Given the description of an element on the screen output the (x, y) to click on. 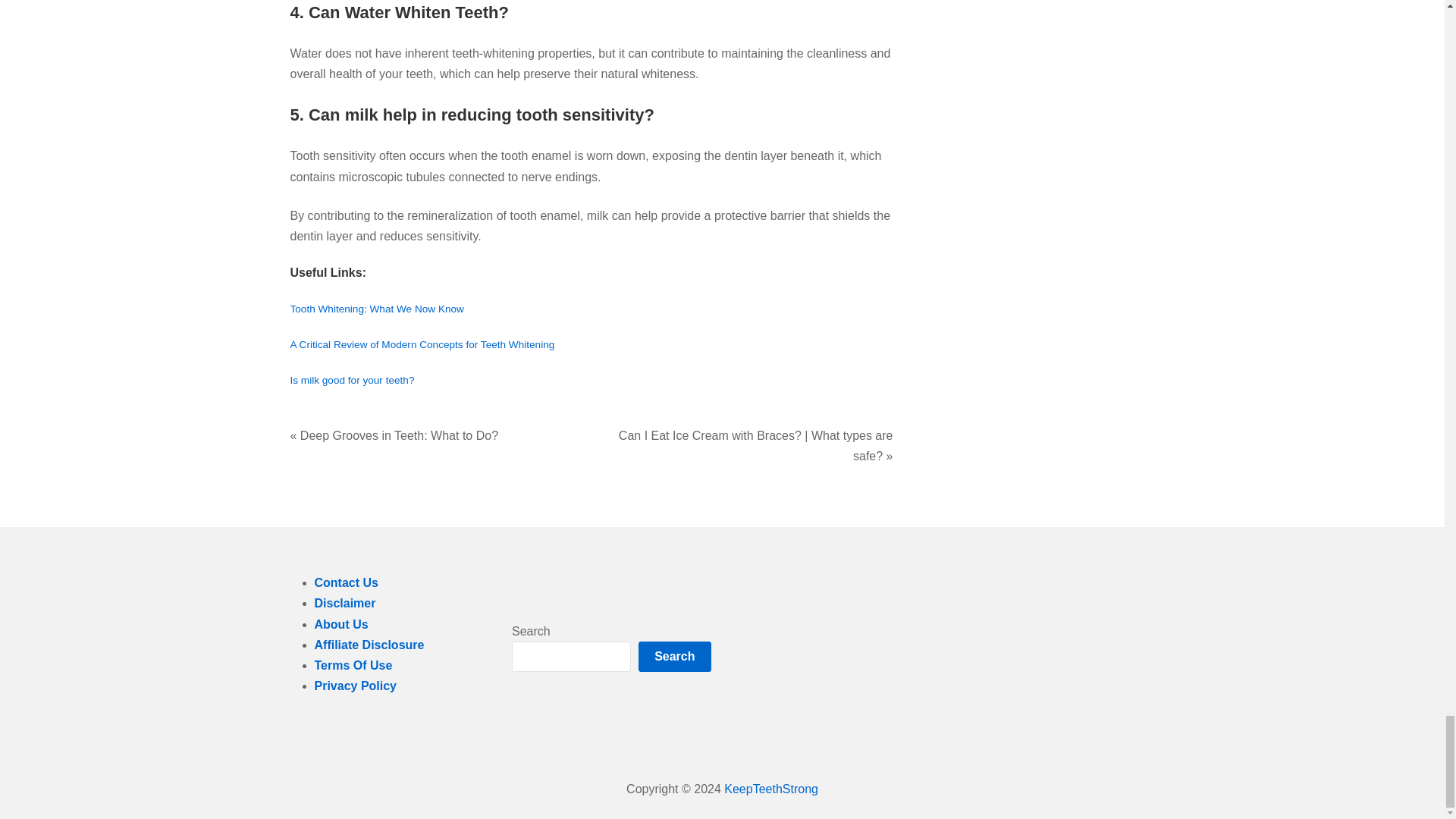
Contact Us (345, 582)
Affiliate Disclosure (368, 644)
Is milk good for your teeth? (351, 379)
A Critical Review of Modern Concepts for Teeth Whitening (421, 344)
KeepTeethStrong (770, 788)
Privacy Policy (355, 685)
Terms Of Use (352, 665)
Tooth Whitening: What We Now Know (376, 308)
Search (674, 656)
About Us (341, 624)
Disclaimer (344, 603)
